Given the description of an element on the screen output the (x, y) to click on. 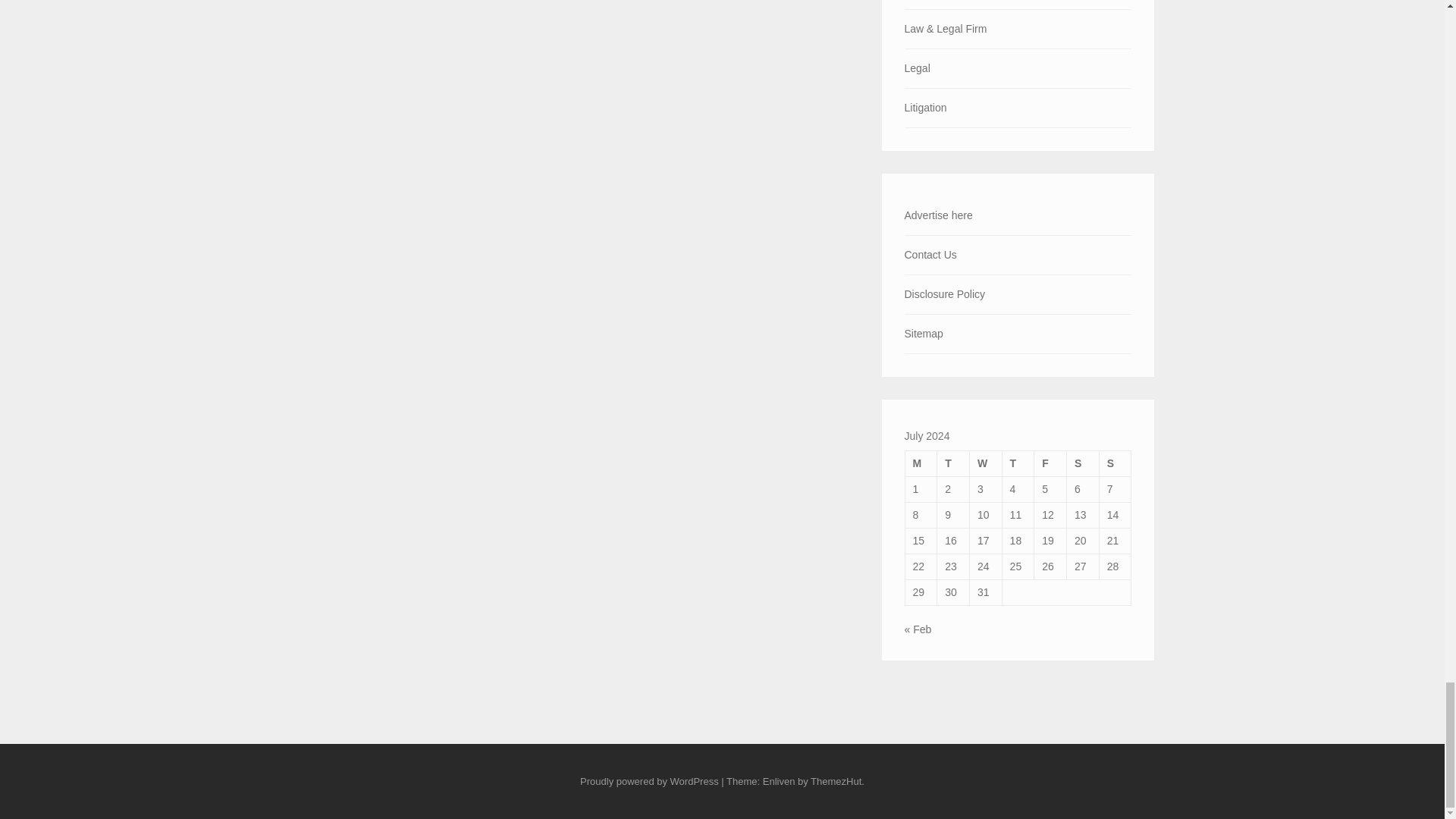
Tuesday (953, 462)
Friday (1050, 462)
Wednesday (985, 462)
Sunday (1115, 462)
Thursday (1017, 462)
Monday (920, 462)
Saturday (1083, 462)
